Given the description of an element on the screen output the (x, y) to click on. 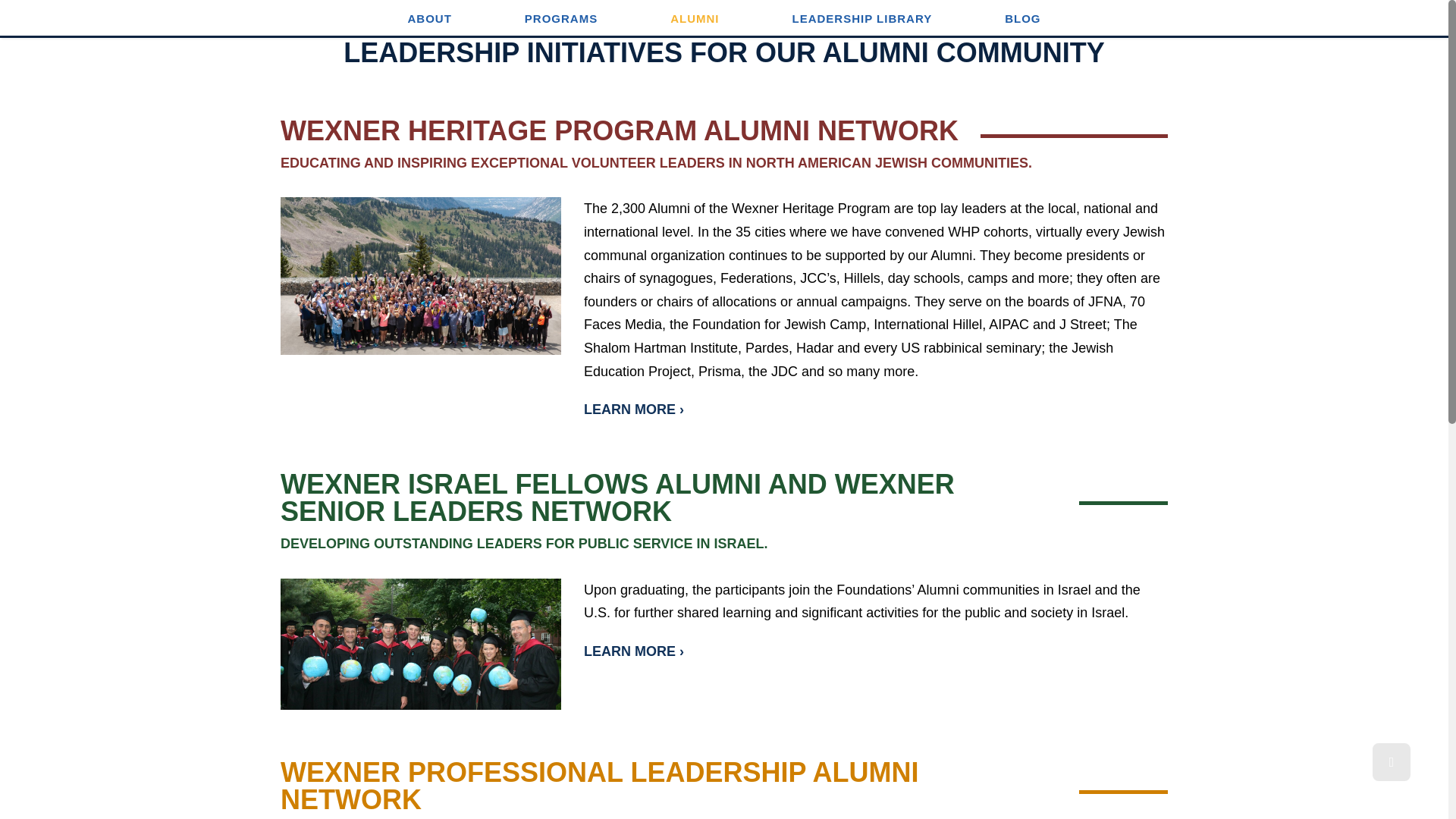
PROGRAMS (561, 18)
ALUMNI (694, 18)
LEADERSHIP LIBRARY (860, 18)
BLOG (1022, 18)
ABOUT (428, 18)
WIF (420, 644)
